Given the description of an element on the screen output the (x, y) to click on. 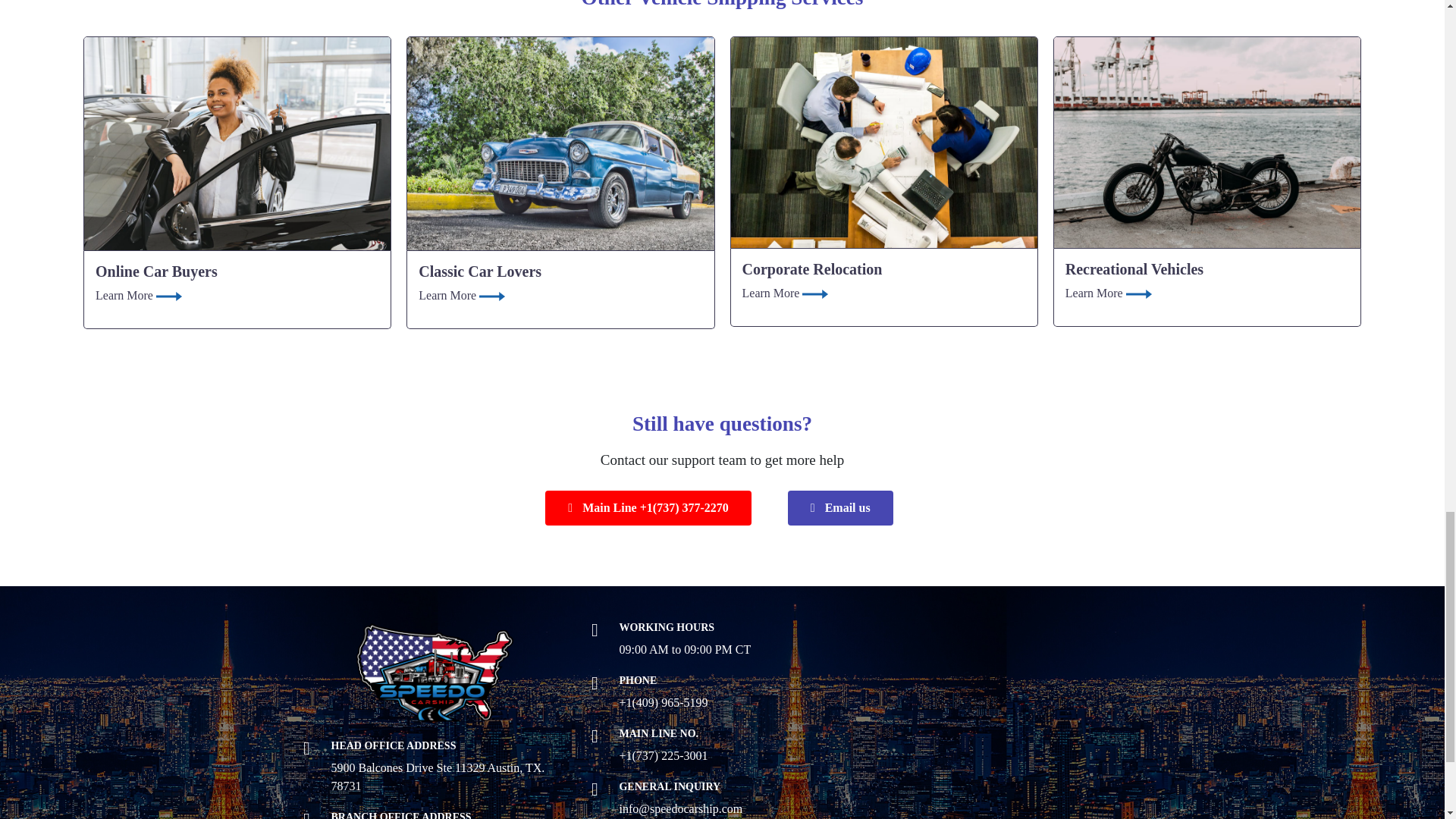
5900 Balcones Dr, Austin, TX 78731, USA (1010, 719)
